Given the description of an element on the screen output the (x, y) to click on. 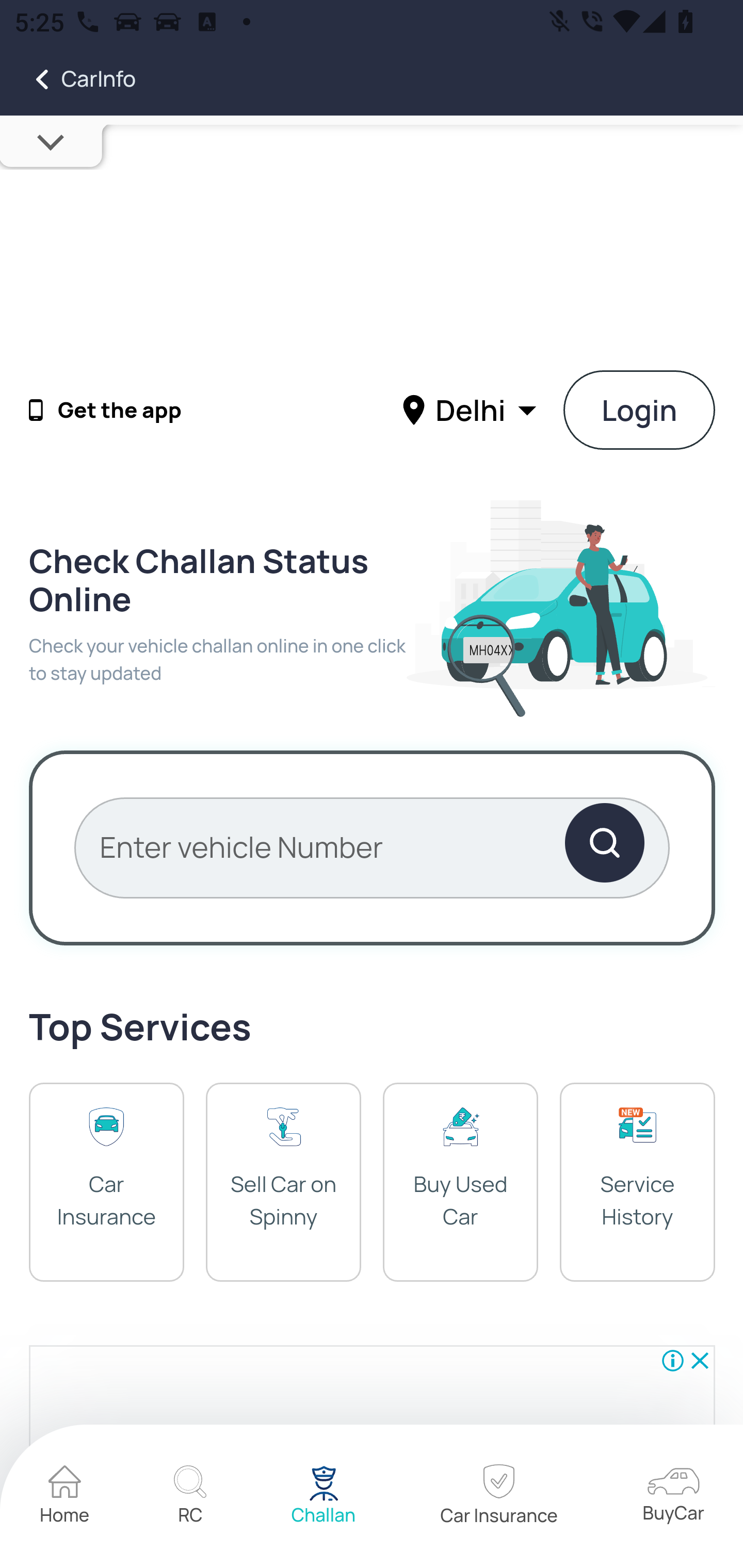
CarInfo (67, 79)
Login (639, 409)
Delhi (471, 408)
Get the app (119, 410)
search (603, 847)
topservices Buy Used Car topservices Buy Used Car (459, 1181)
home Home home Home (64, 1496)
home RC home RC (190, 1496)
home Challan home Challan (323, 1496)
home Car Insurance home Car Insurance (497, 1497)
home BuyCar home BuyCar (672, 1496)
